Given the description of an element on the screen output the (x, y) to click on. 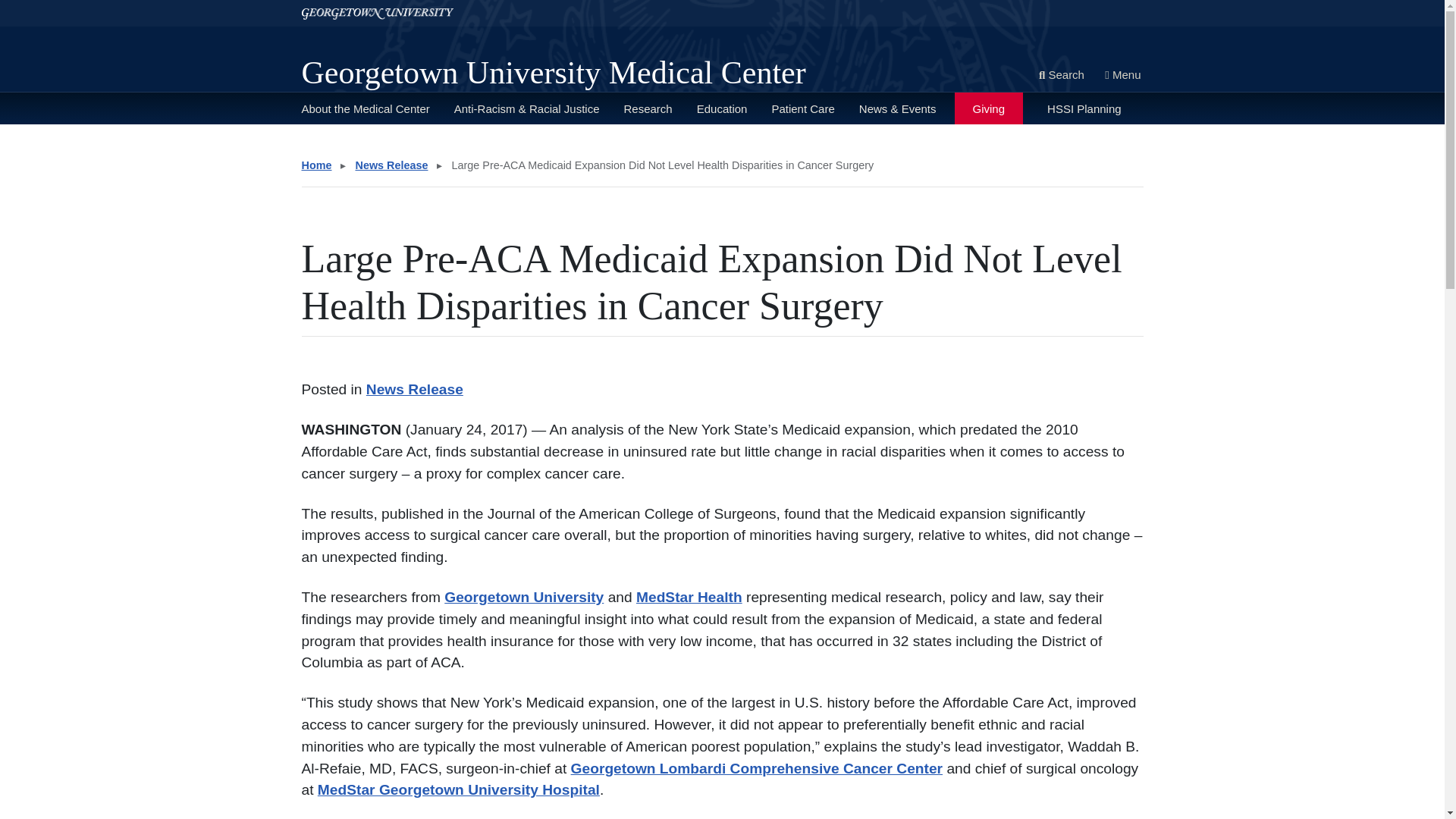
About the Medical Center (365, 107)
Georgetown University Medical Center (553, 72)
Search (1061, 75)
Research (647, 107)
Toggle sub-navigation (694, 144)
Skip to main content (55, 6)
Toggle sub-navigation (768, 144)
Menu (1122, 75)
Skip to main site menu (61, 6)
Education (722, 107)
Toggle sub-navigation (372, 144)
